Given the description of an element on the screen output the (x, y) to click on. 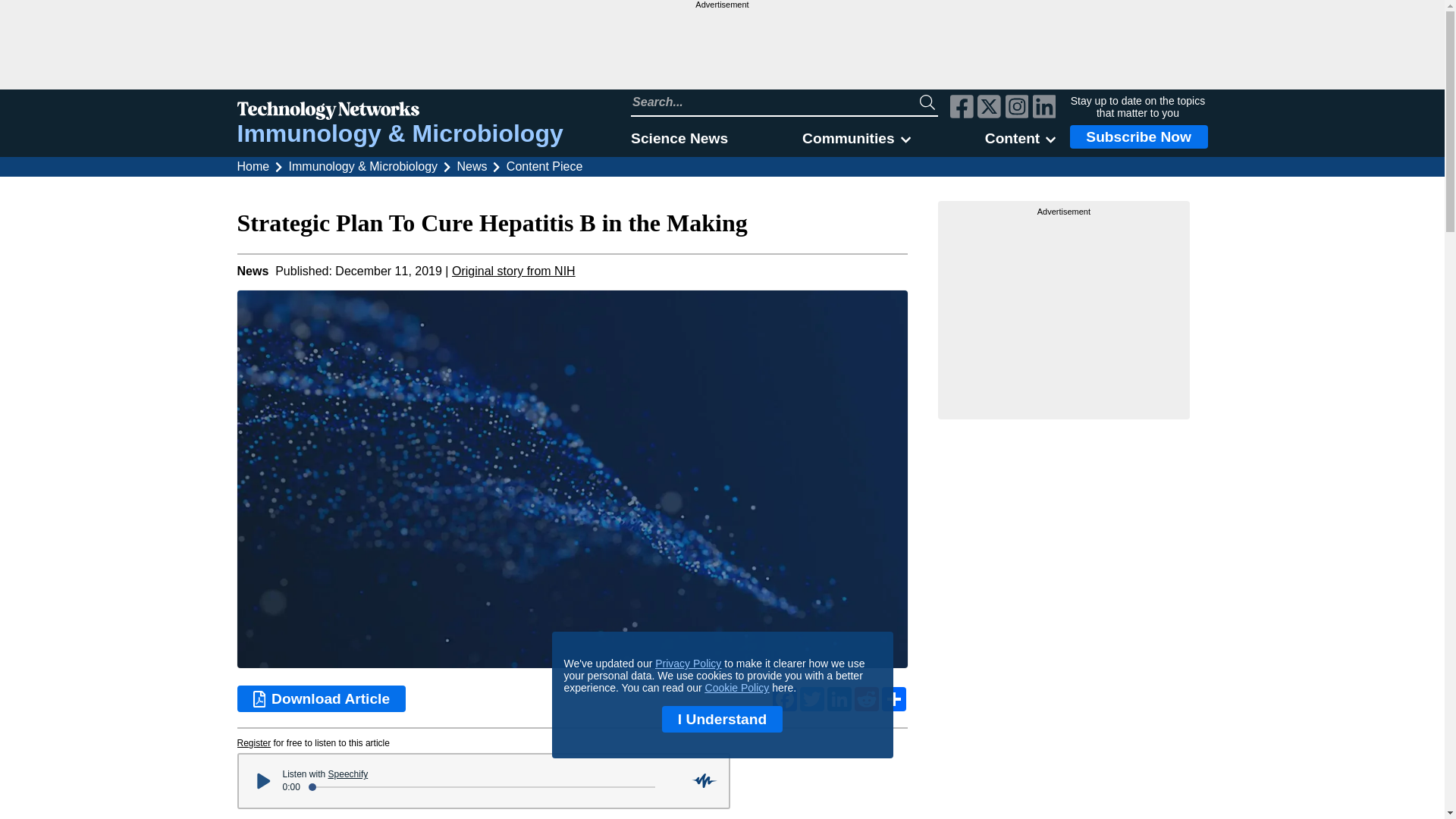
Click here to visit the original source for this content. (513, 270)
3rd party ad content (1063, 312)
Technology Networks logo (398, 112)
3rd party ad content (721, 49)
I Understand (722, 718)
Privacy Policy (687, 663)
Search Technology Networks website input field (775, 102)
Cookie Policy (737, 687)
